Given the description of an element on the screen output the (x, y) to click on. 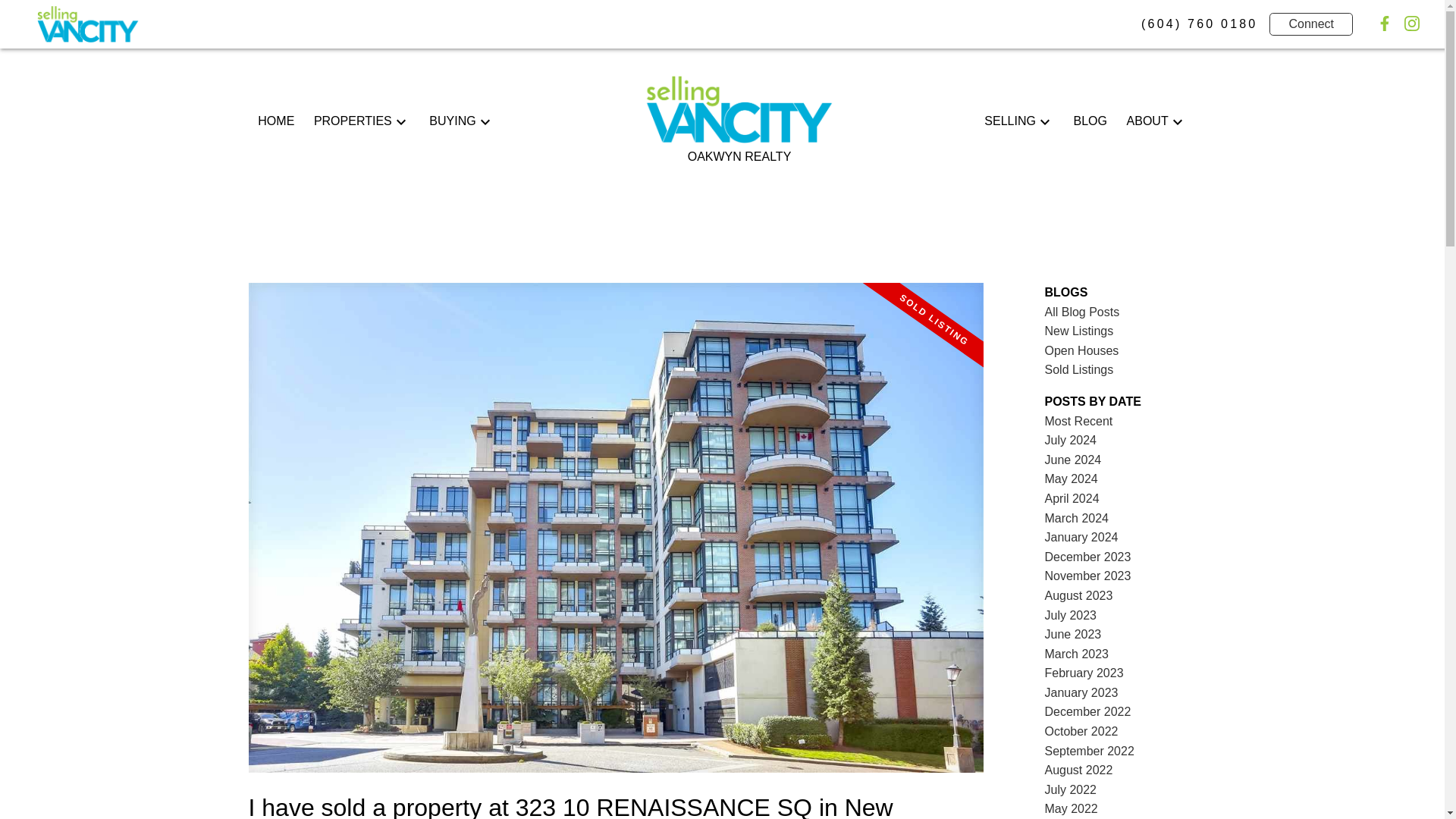
BLOG (1090, 121)
HOME (275, 121)
Connect (1310, 24)
